Given the description of an element on the screen output the (x, y) to click on. 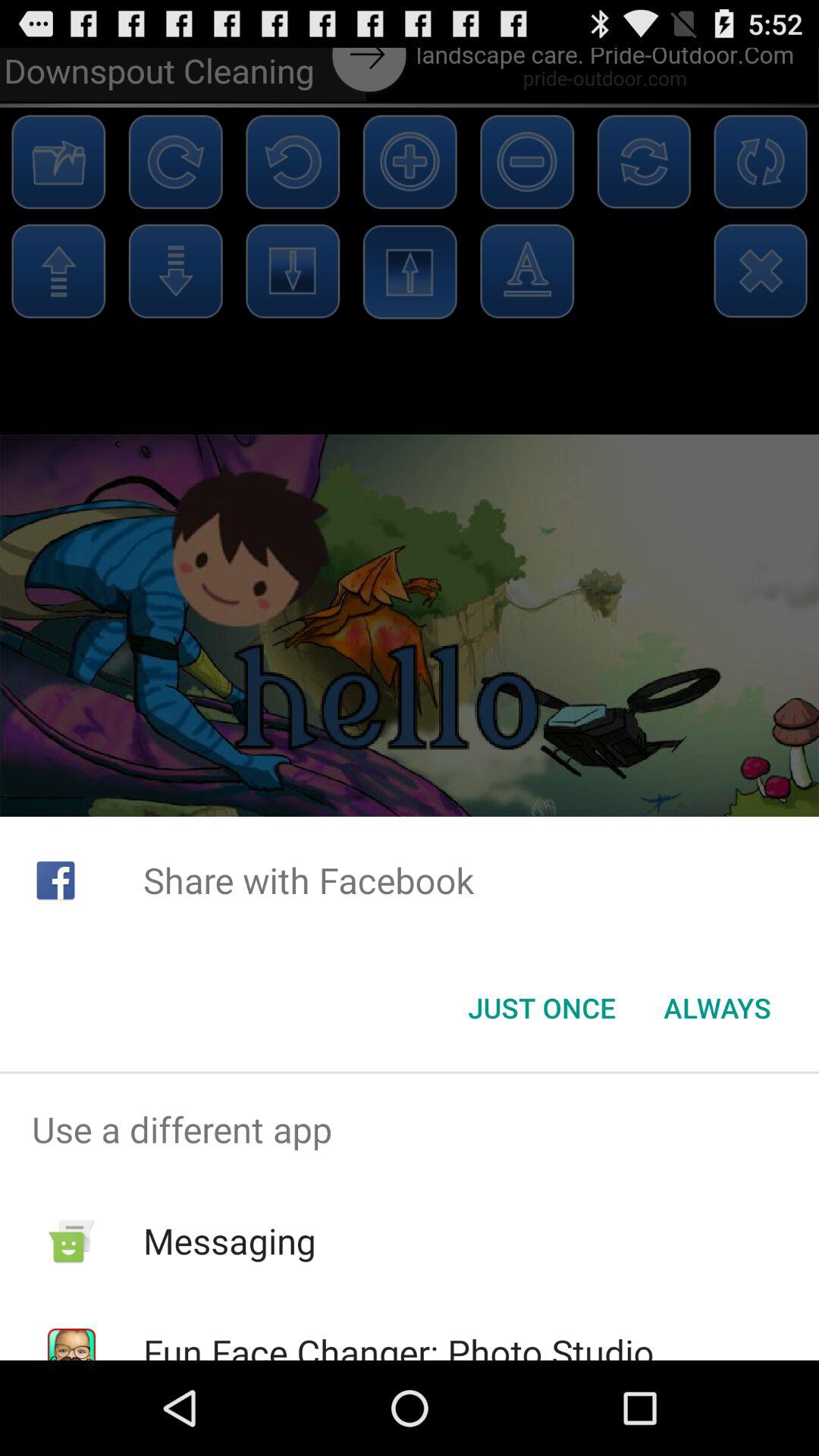
tap use a different icon (409, 1129)
